Given the description of an element on the screen output the (x, y) to click on. 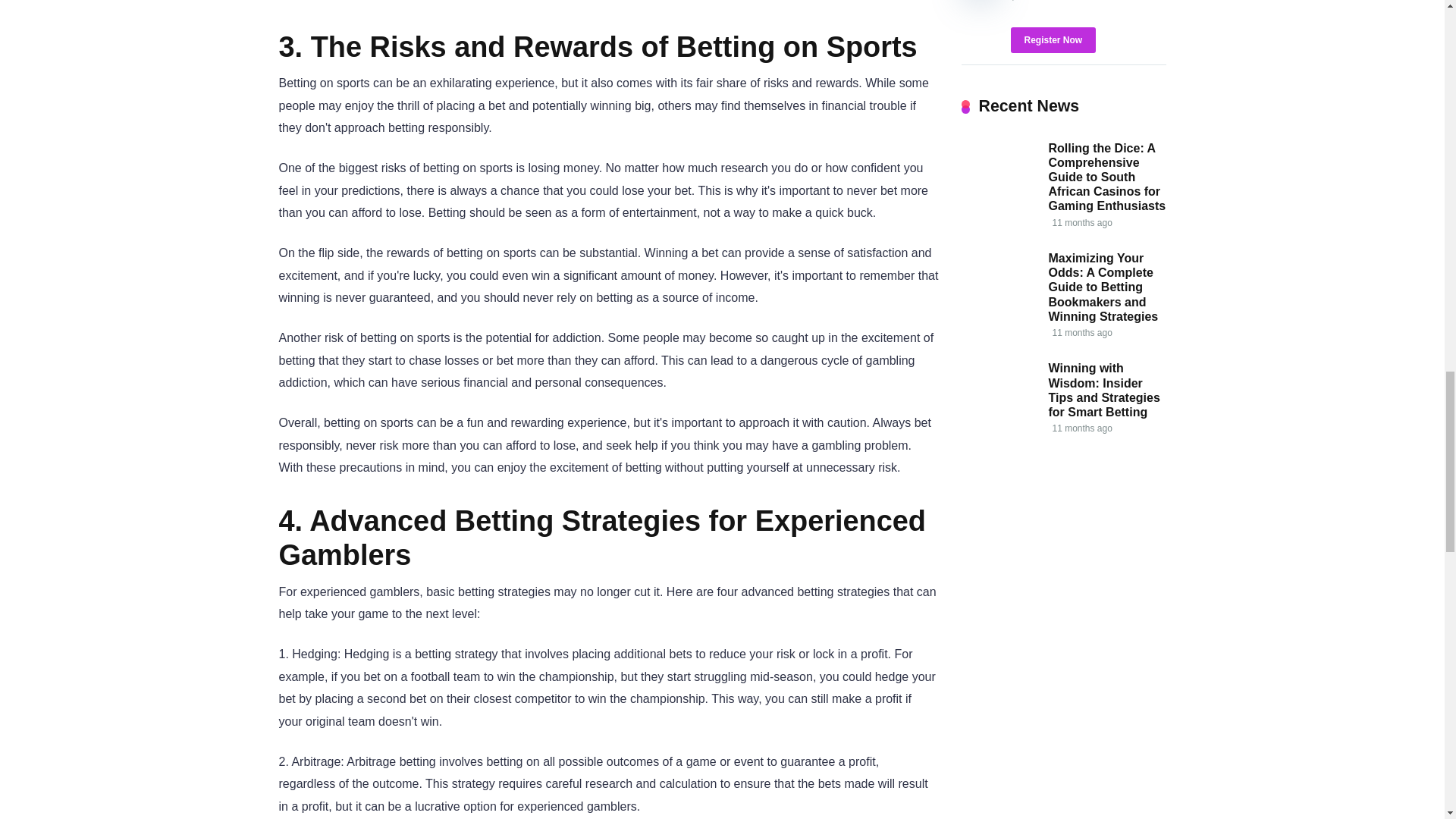
Register Now (1053, 40)
